Given the description of an element on the screen output the (x, y) to click on. 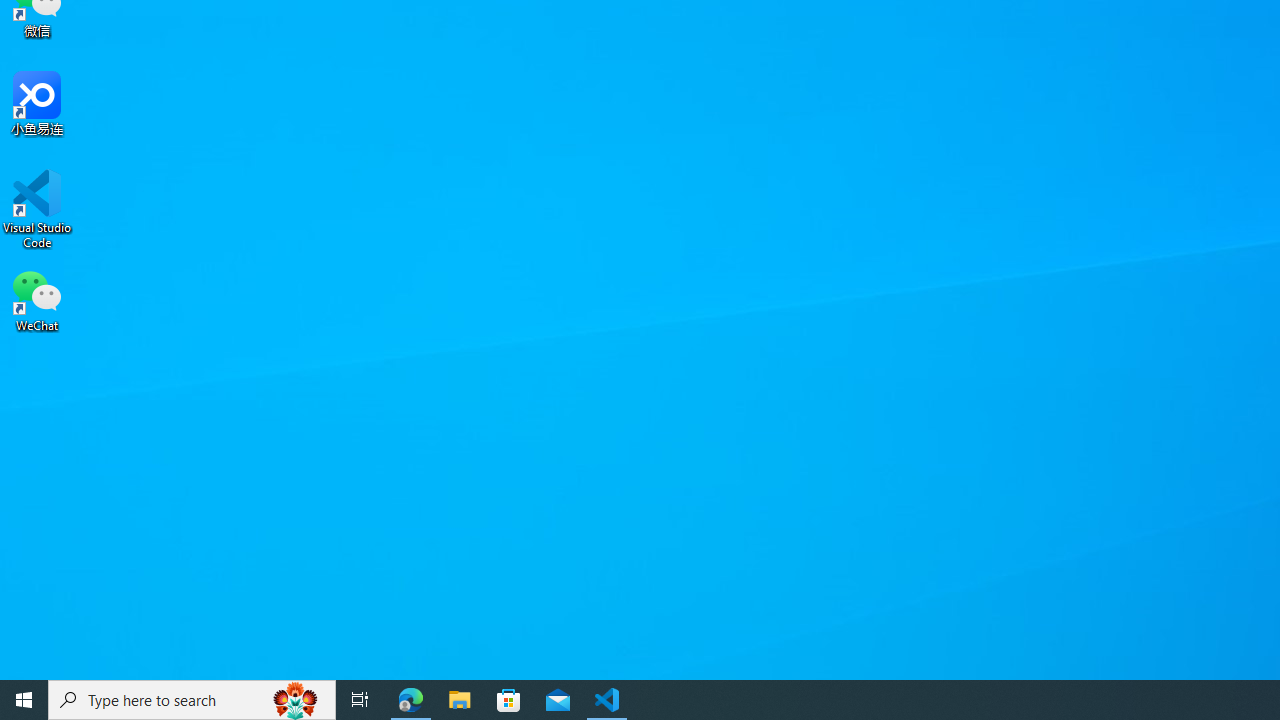
Visual Studio Code (37, 209)
Microsoft Edge - 1 running window (411, 699)
Type here to search (191, 699)
Task View (359, 699)
Start (24, 699)
Visual Studio Code - 1 running window (607, 699)
Search highlights icon opens search home window (295, 699)
Microsoft Store (509, 699)
File Explorer (460, 699)
WeChat (37, 299)
